Given the description of an element on the screen output the (x, y) to click on. 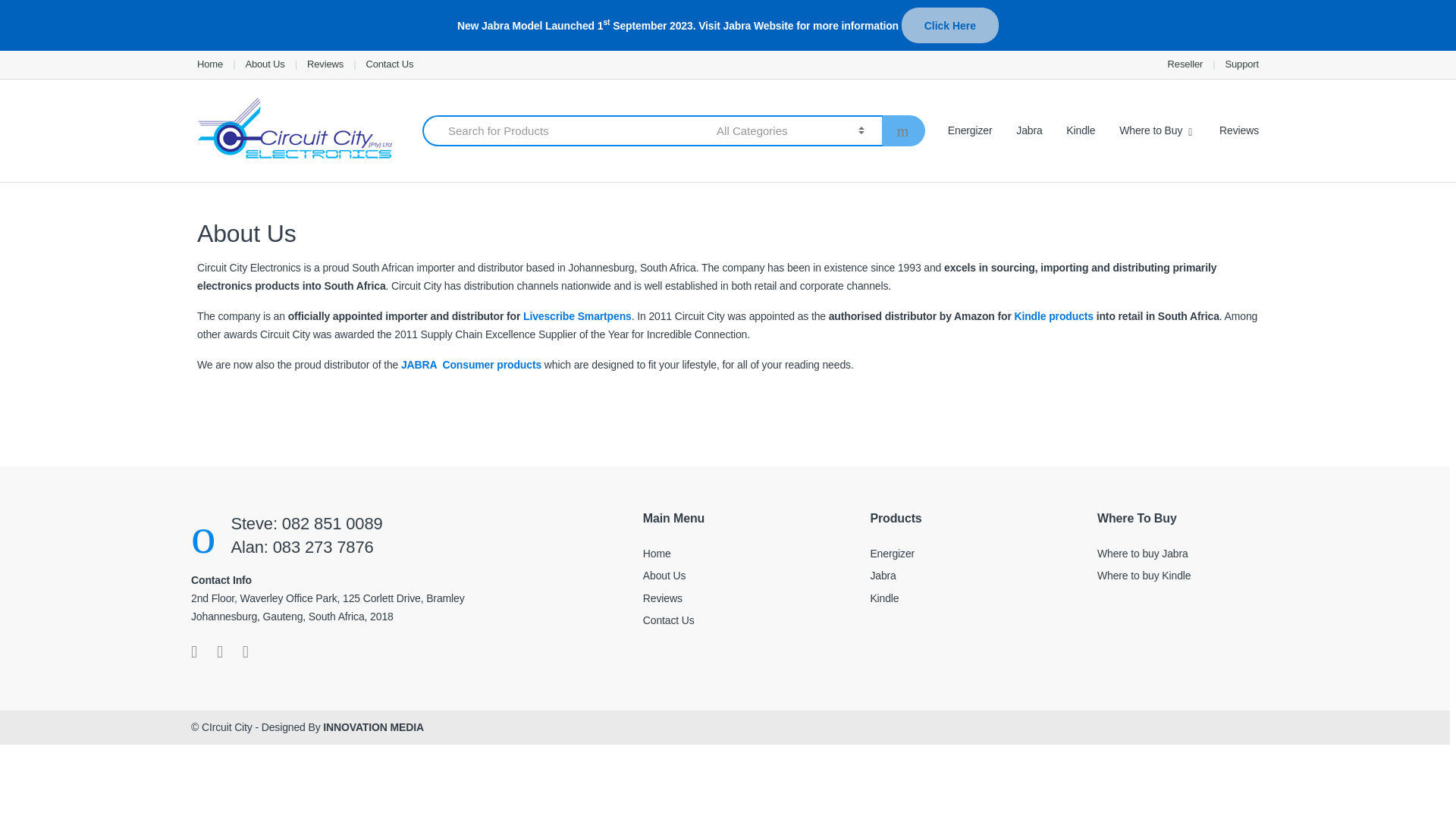
Reviews (325, 64)
About Us (263, 64)
Reseller (1185, 64)
About Us (263, 64)
Contact Us (389, 64)
Click Here (949, 25)
Support (1241, 64)
Where to Buy (1157, 130)
Home (209, 64)
Reviews (325, 64)
